Given the description of an element on the screen output the (x, y) to click on. 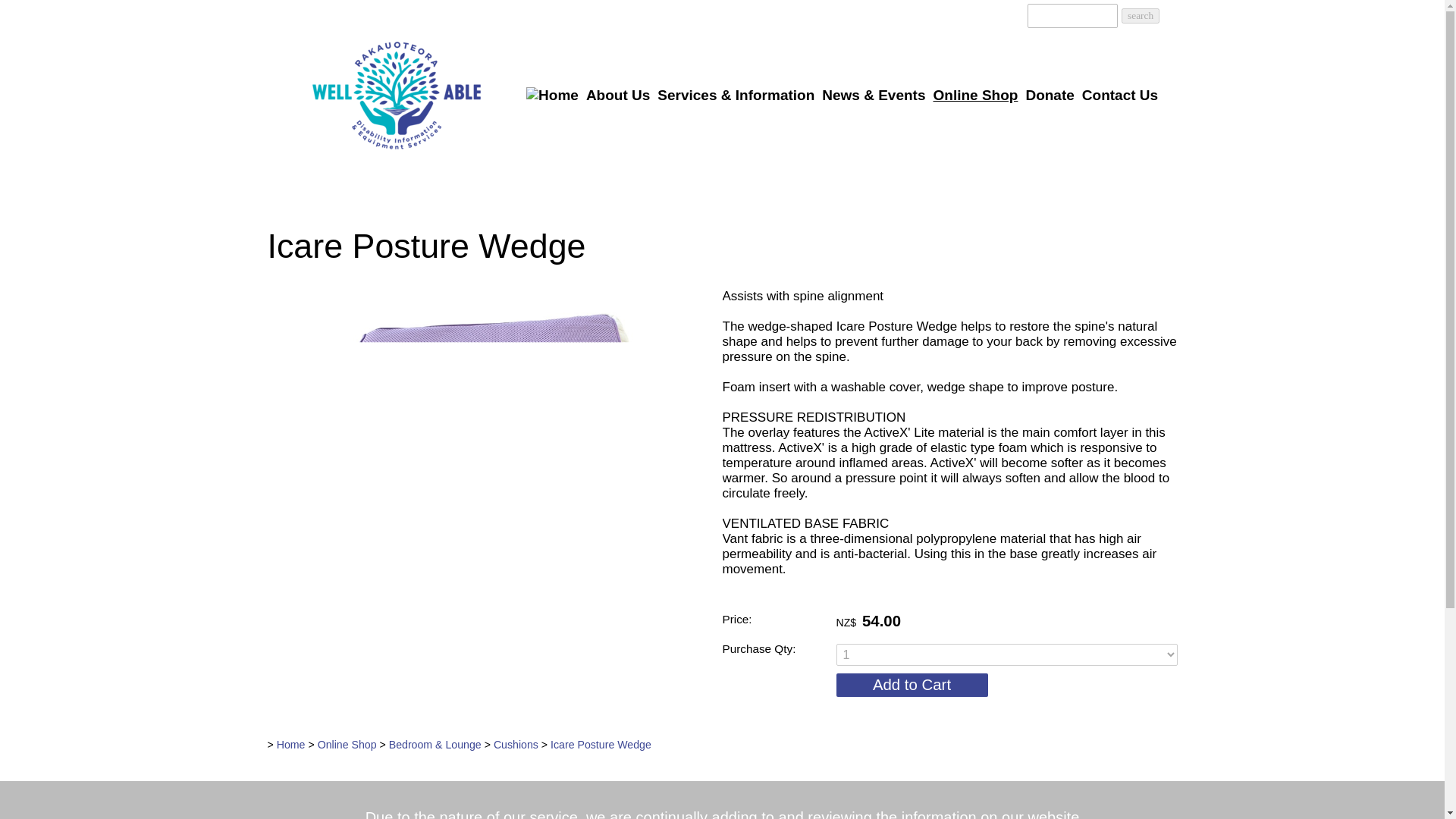
About Us (617, 95)
Phone Numbers and Contact Details (986, 13)
Online Shop (976, 95)
Icare Posture Wedge (484, 617)
Add to Cart (911, 684)
search (1139, 15)
View Shopping Cart (1008, 13)
